Given the description of an element on the screen output the (x, y) to click on. 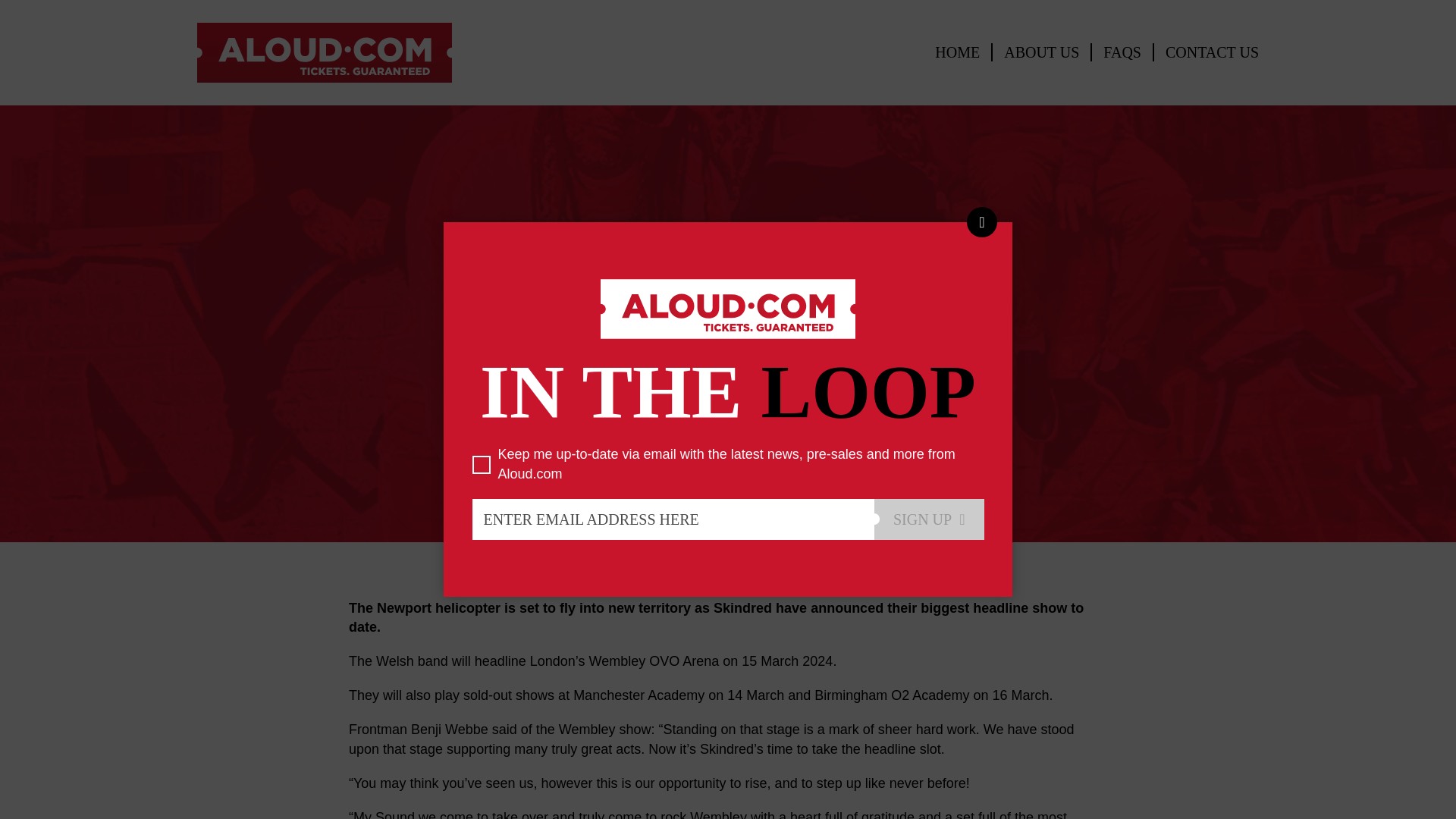
FAQS (1122, 52)
ABOUT US (1041, 52)
HOME (957, 52)
CONTACT US (1211, 52)
